Given the description of an element on the screen output the (x, y) to click on. 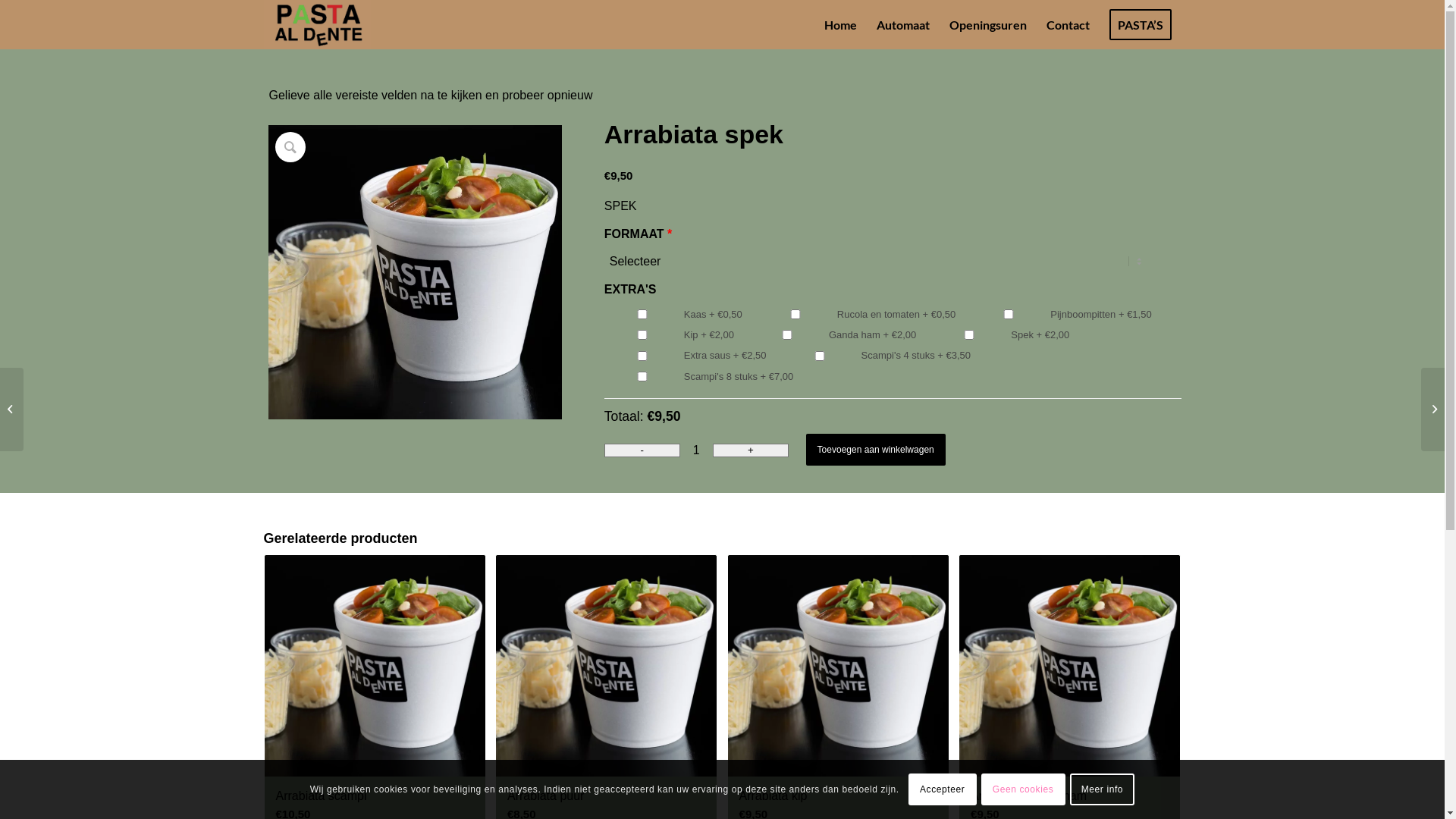
Automaat Element type: text (902, 24)
Geen cookies Element type: text (1023, 789)
logo_enfold Element type: hover (317, 24)
Contact Element type: text (1066, 24)
placeholder_600px Element type: hover (414, 271)
Openingsuren Element type: text (986, 24)
Toevoegen aan winkelwagen Element type: text (875, 449)
Accepteer Element type: text (942, 789)
Home Element type: text (840, 24)
Meer info Element type: text (1102, 789)
